Given the description of an element on the screen output the (x, y) to click on. 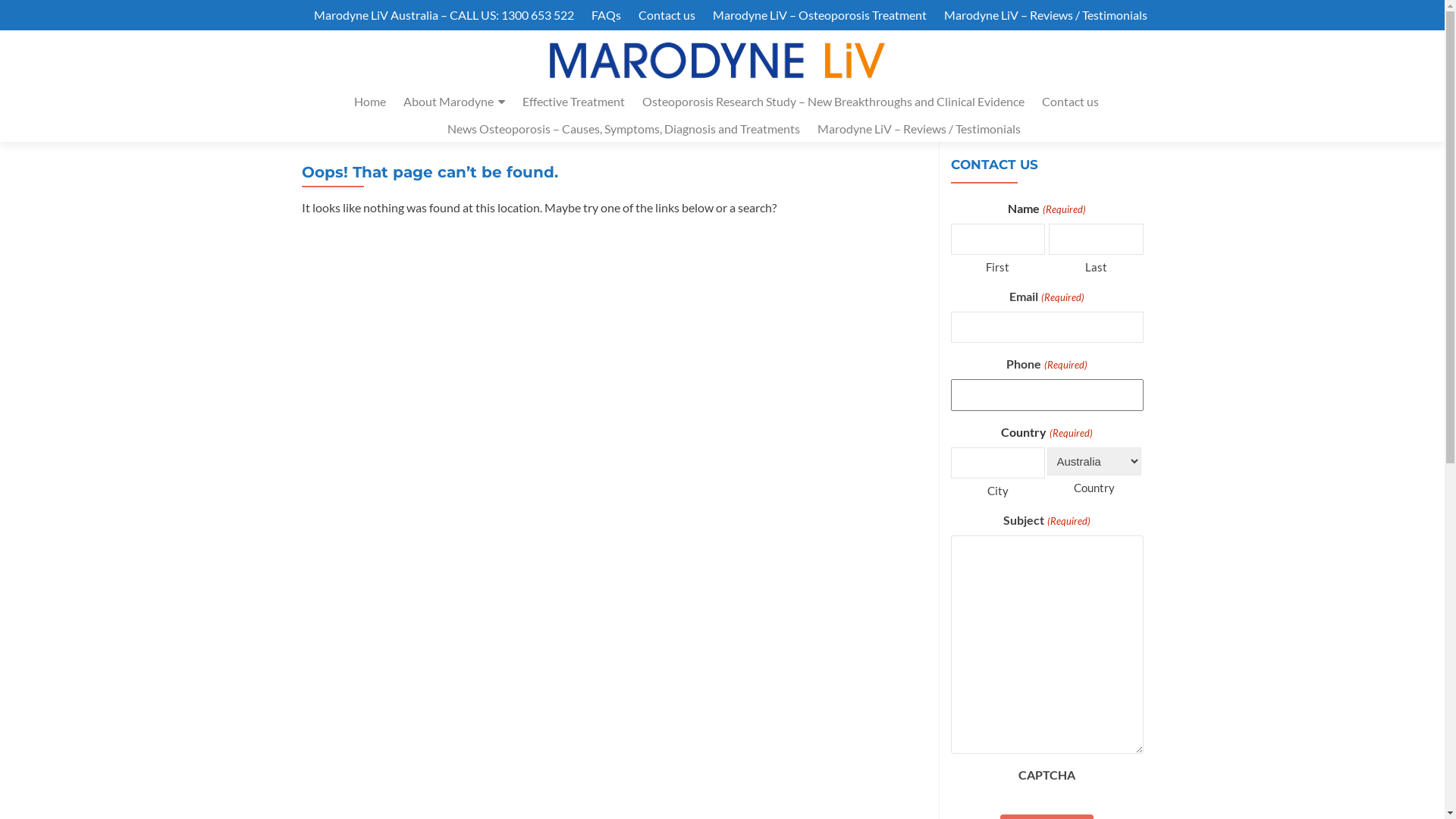
About Marodyne Element type: text (454, 101)
Contact us Element type: text (1069, 100)
Contact us Element type: text (666, 15)
Home Element type: text (369, 100)
Effective Treatment Element type: text (572, 100)
FAQs Element type: text (605, 15)
